Given the description of an element on the screen output the (x, y) to click on. 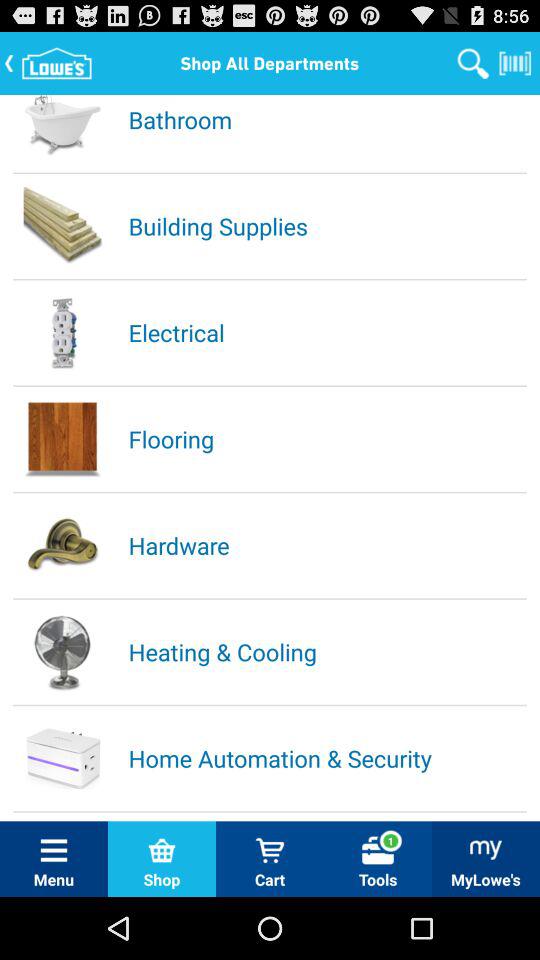
tap building supplies icon (326, 225)
